Given the description of an element on the screen output the (x, y) to click on. 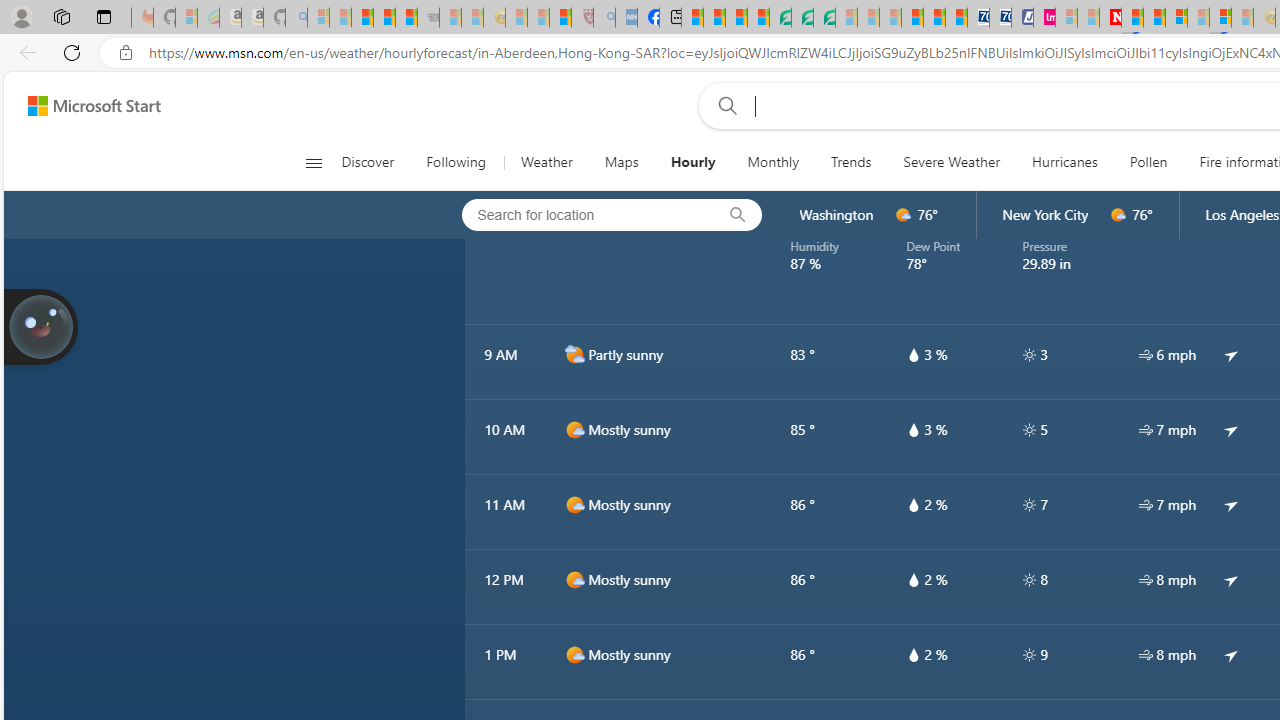
Cheap Hotels - Save70.com (1000, 17)
hourlyTable/wind (1145, 654)
